Given the description of an element on the screen output the (x, y) to click on. 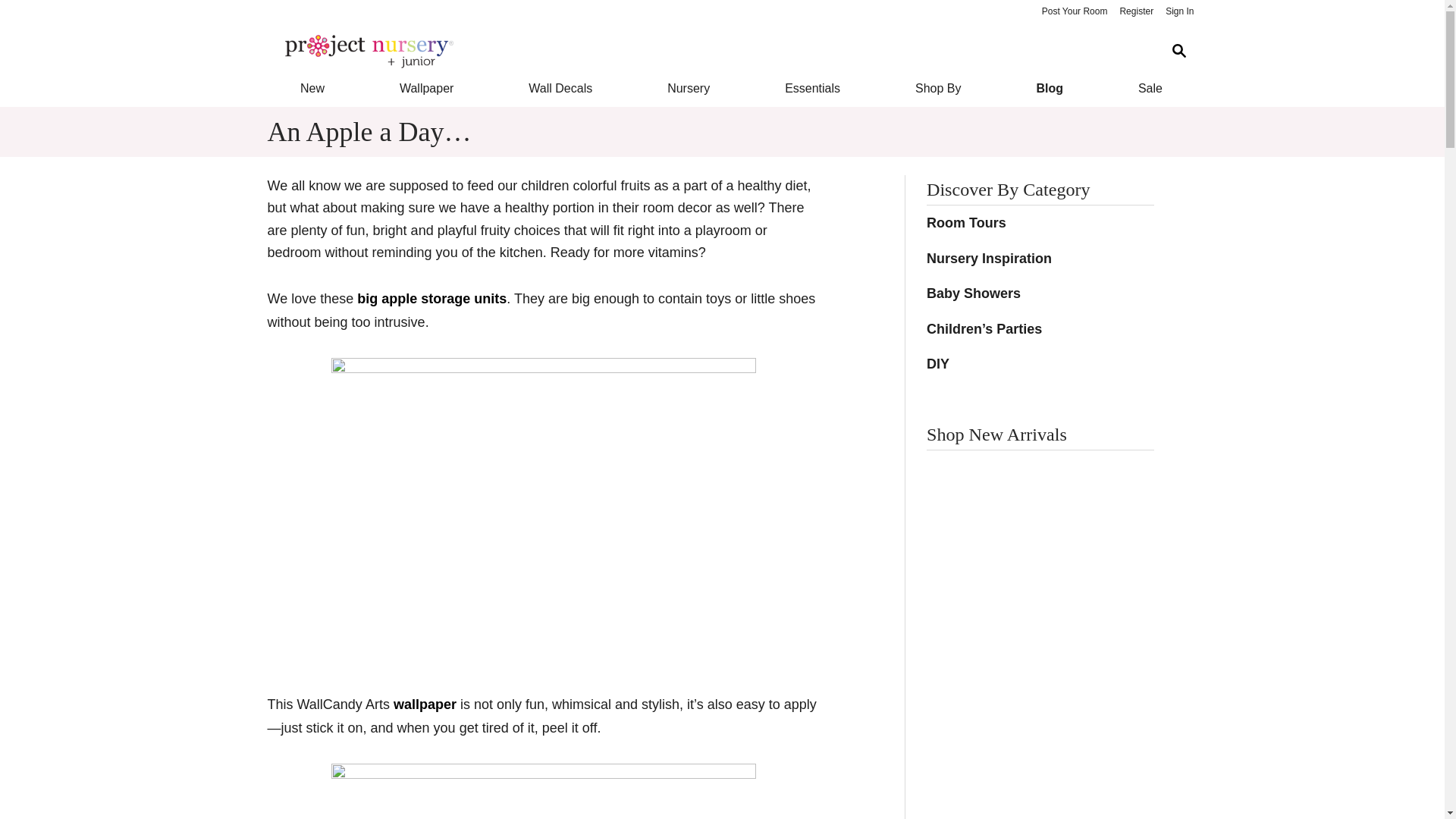
Wallpaper (425, 88)
Apple Removeable Wallpaper (542, 790)
Wall Decals (561, 88)
Post Your Room (1074, 11)
Post Your Room (1074, 11)
Sign In (1178, 11)
New (311, 88)
Project Nursery (709, 51)
Register (1135, 11)
Apple Storage (542, 500)
Search (1178, 50)
Nursery (689, 88)
